Given the description of an element on the screen output the (x, y) to click on. 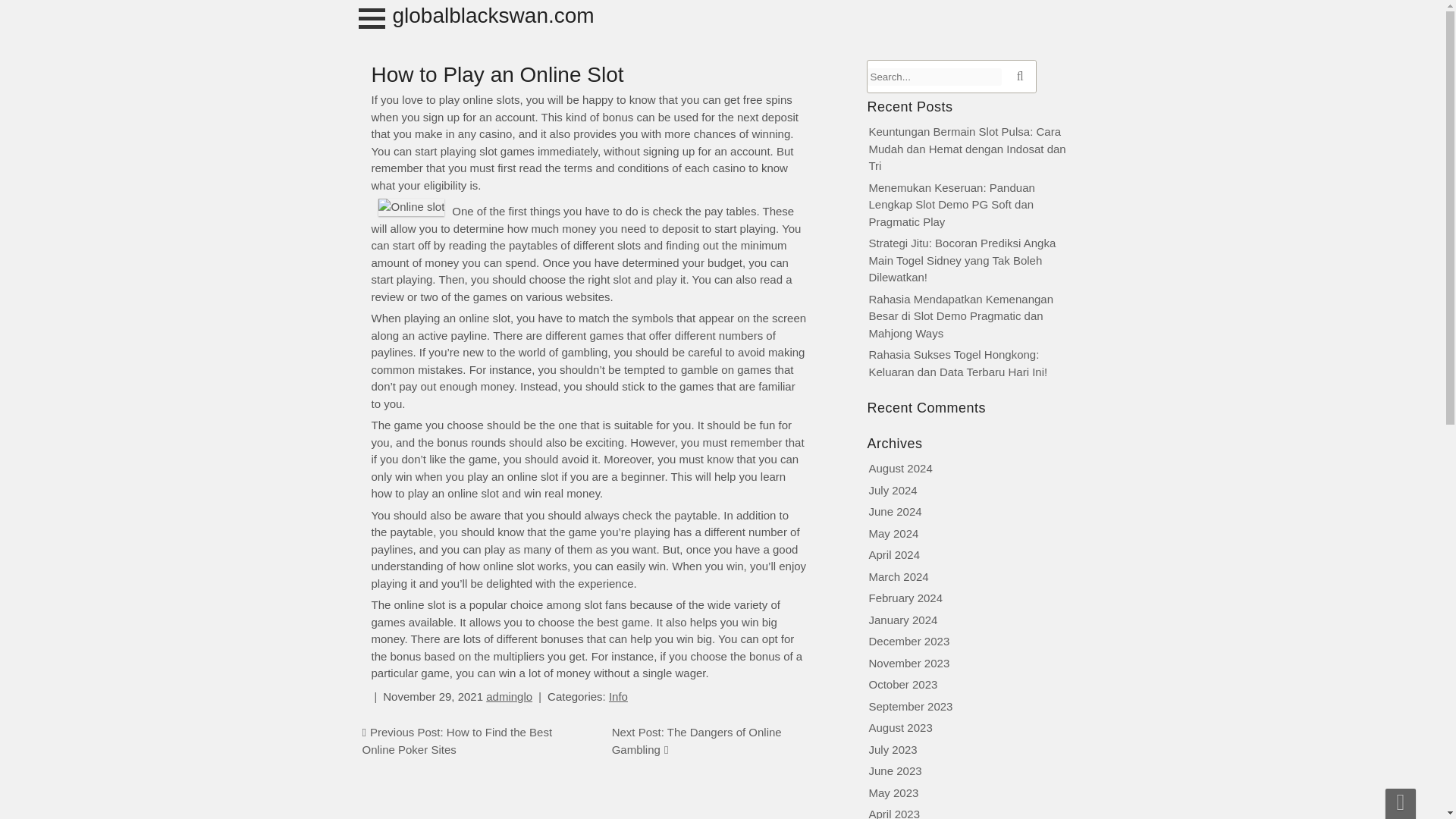
August 2023 (901, 727)
January 2024 (903, 618)
July 2024 (893, 490)
globalblackswan.com (493, 15)
February 2024 (906, 597)
October 2023 (903, 684)
Info (617, 696)
May 2023 (893, 791)
August 2024 (901, 468)
